Given the description of an element on the screen output the (x, y) to click on. 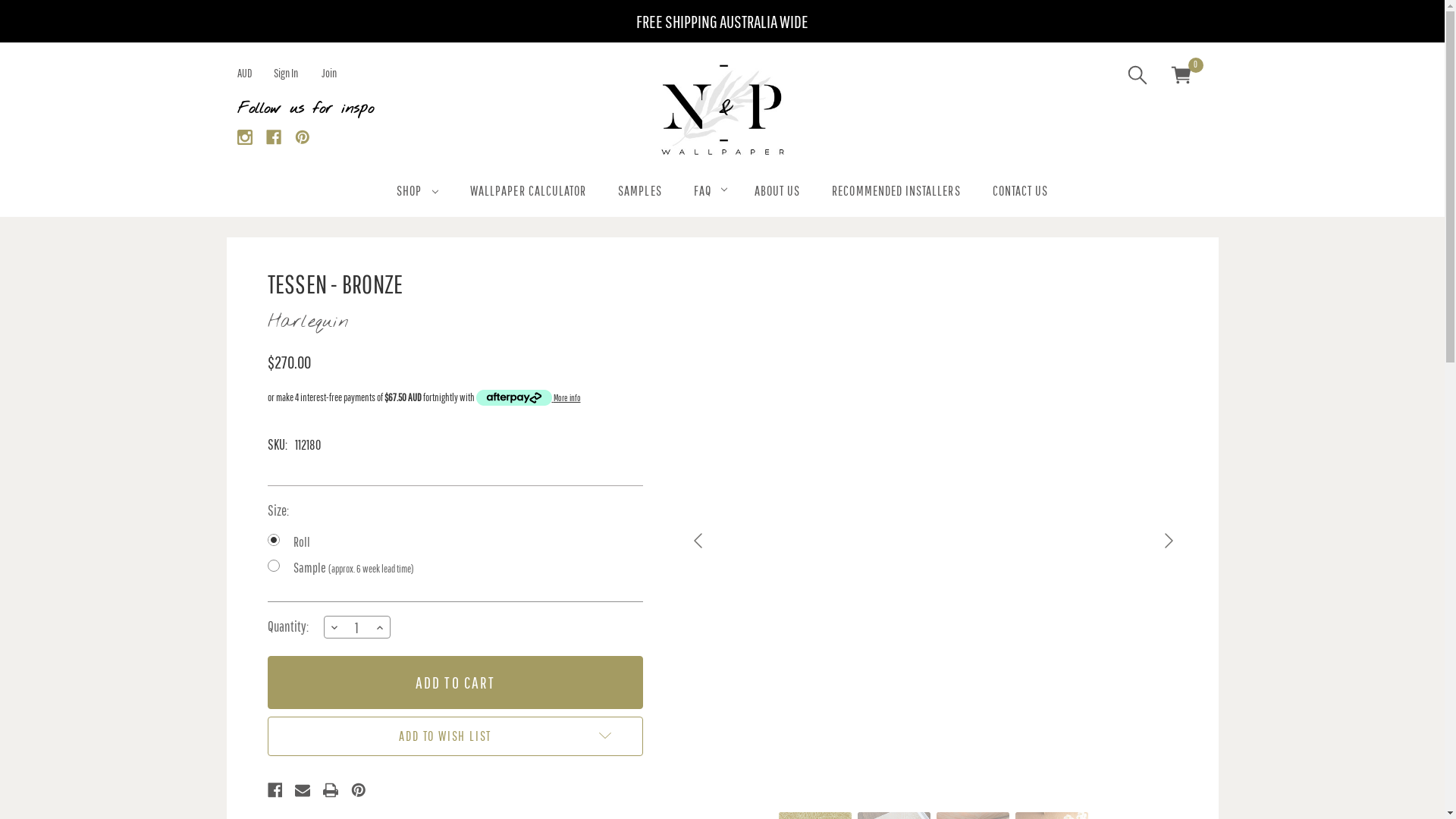
SHOP Element type: text (417, 192)
Next slide Element type: hover (1167, 540)
Join Element type: text (328, 72)
CONTACT US Element type: text (1020, 192)
SAMPLES Element type: text (639, 192)
Facebook Element type: hover (274, 789)
DECREASE QUANTITY OF TESSEN - BRONZE Element type: text (334, 627)
ADD TO WISH LIST Element type: text (454, 736)
Instagram Element type: hover (244, 136)
ABOUT US Element type: text (776, 192)
More info Element type: text (528, 397)
INCREASE QUANTITY OF TESSEN - BRONZE Element type: text (379, 627)
Pinterest Element type: hover (358, 789)
WALLPAPER CALCULATOR Element type: text (528, 192)
Natty & Polly Wallpaper Element type: hover (721, 109)
FAQ Element type: text (707, 192)
Harlequin Element type: text (307, 322)
Sign In Element type: text (284, 72)
Previous slide Element type: hover (699, 540)
Add to Cart Element type: text (454, 682)
Print Element type: hover (330, 789)
0 Element type: text (1180, 77)
Pinterest Element type: hover (302, 136)
Facebook Element type: hover (273, 136)
RECOMMENDED INSTALLERS Element type: text (895, 192)
Email Element type: hover (302, 789)
